Given the description of an element on the screen output the (x, y) to click on. 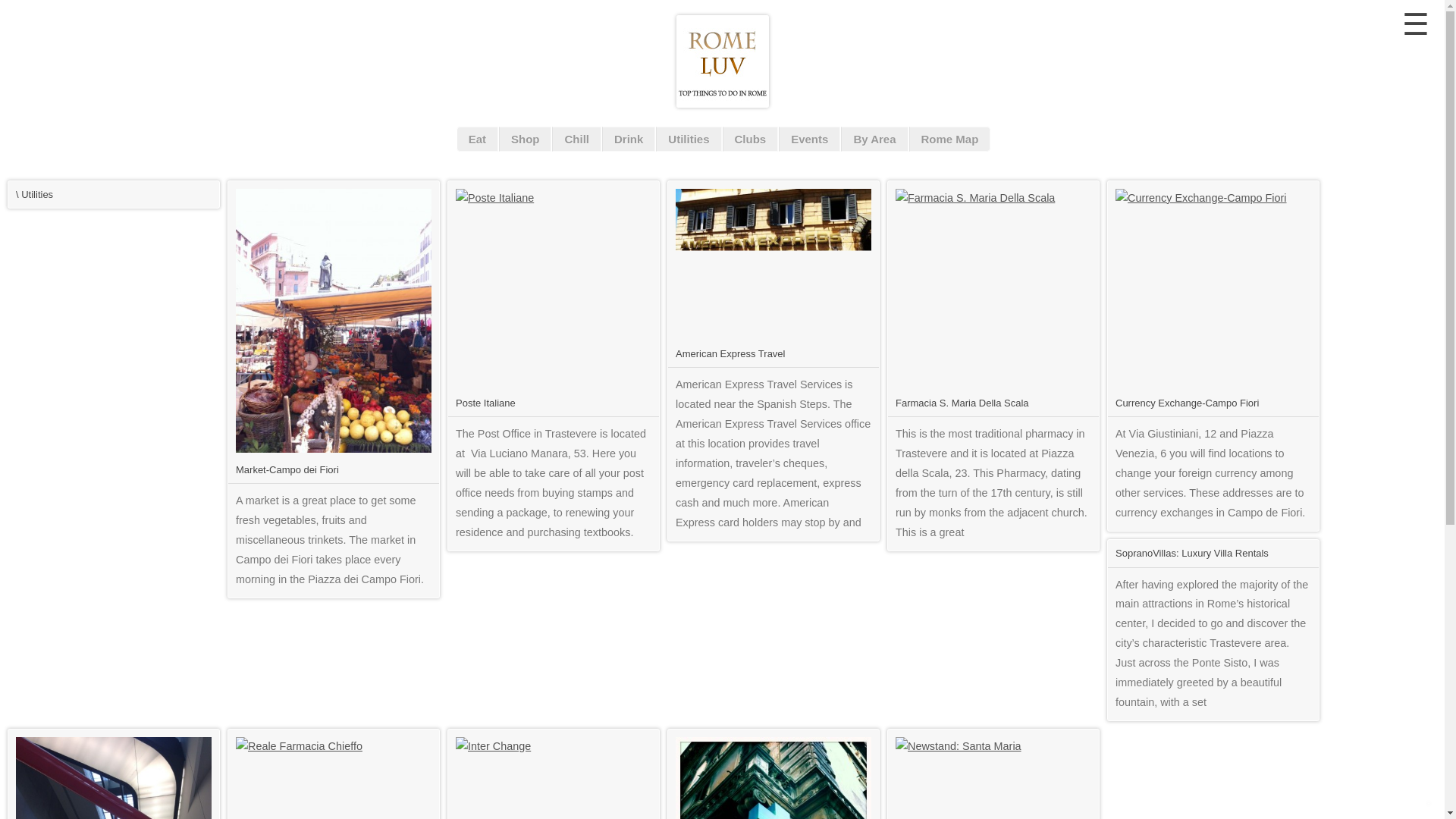
Utilities (688, 138)
Eat (477, 138)
Shop (525, 138)
Currency Exchange-Campo Fiori (1187, 402)
Farmacia S. Maria Della Scala (962, 402)
Poste Italiane (485, 402)
Rome Map (949, 138)
Clubs (749, 138)
Chill (576, 138)
Market-Campo dei Fiori (287, 469)
American Express Travel (730, 353)
View all posts on a map (949, 138)
Drink (628, 138)
Events (809, 138)
SopranoVillas: Luxury Villa Rentals (1191, 552)
